Given the description of an element on the screen output the (x, y) to click on. 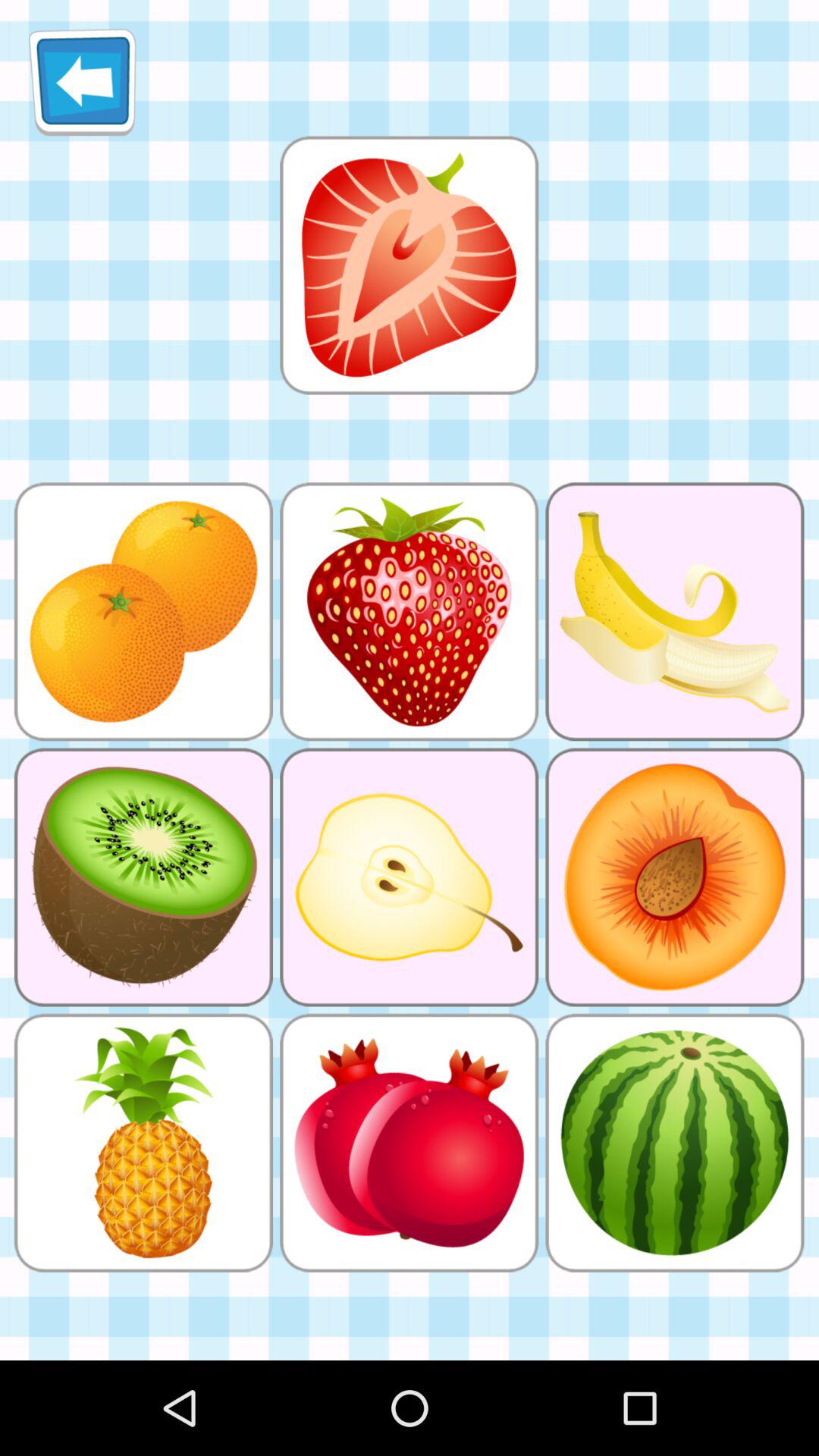
select strawberry (409, 265)
